Given the description of an element on the screen output the (x, y) to click on. 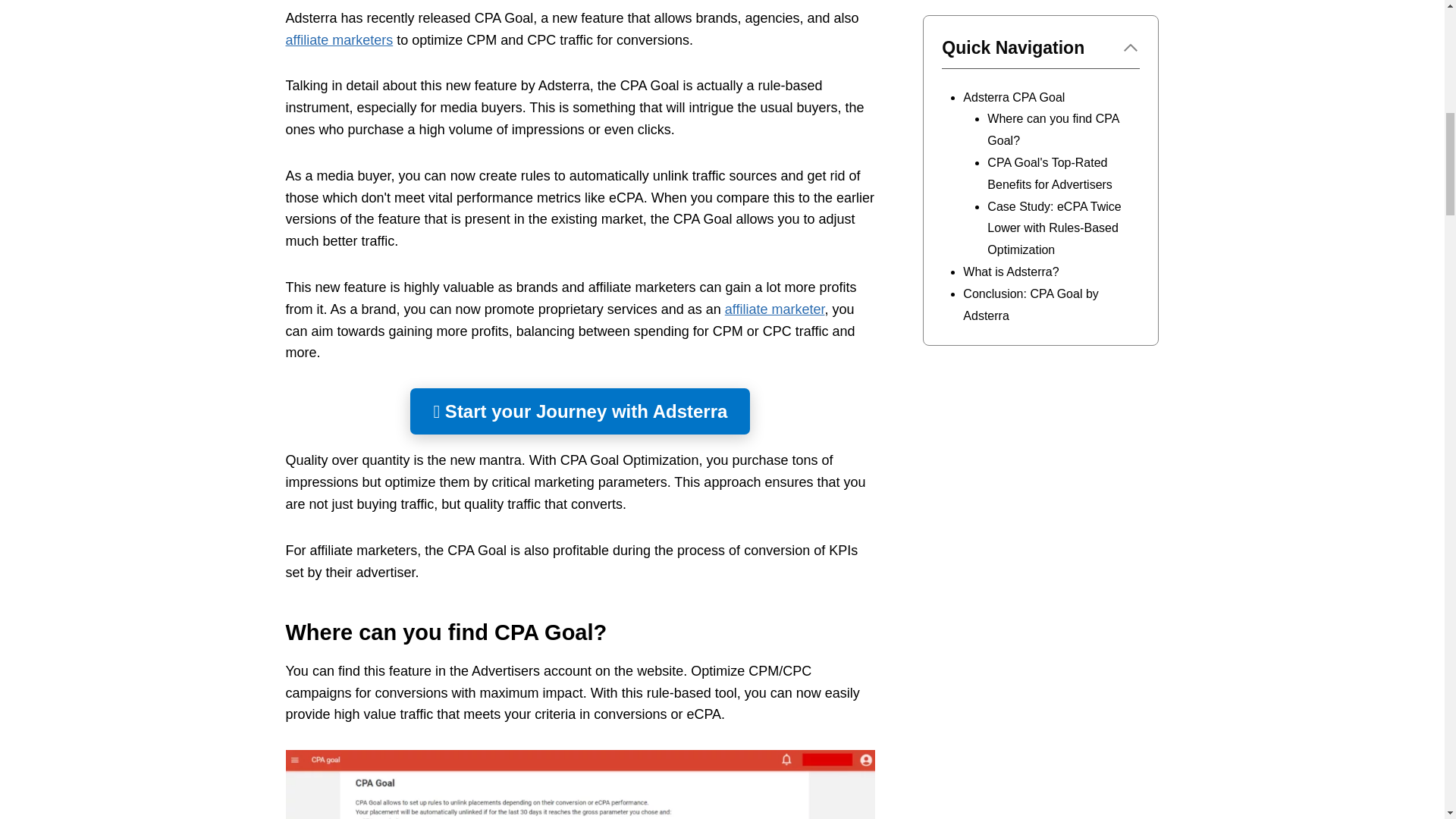
affiliate marketer (775, 309)
affiliate marketers (339, 39)
Reach your Target CPA with Adsterra CPA Goal: Great ROI? 2 (580, 784)
